Given the description of an element on the screen output the (x, y) to click on. 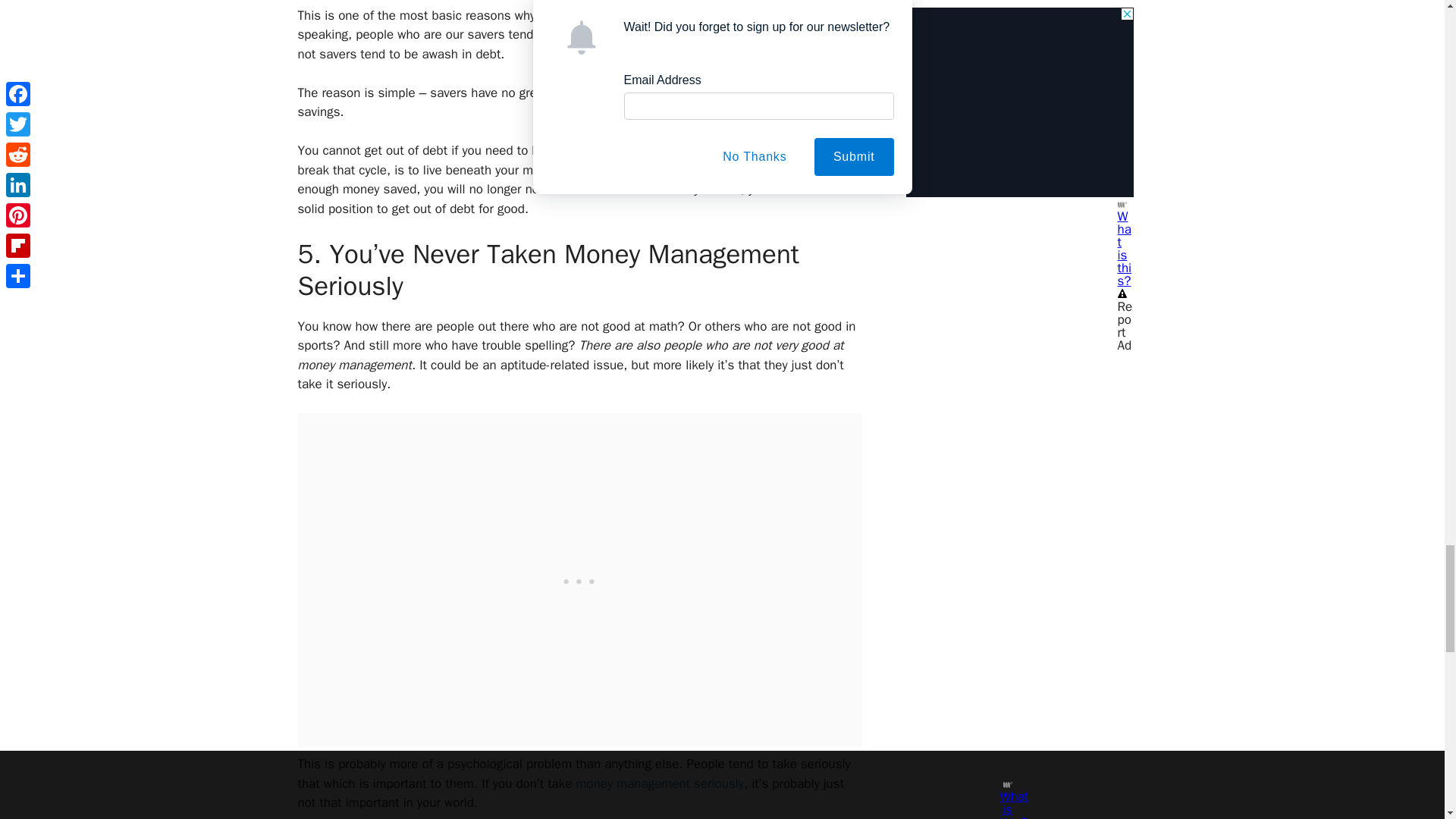
money management seriously (657, 783)
